Given the description of an element on the screen output the (x, y) to click on. 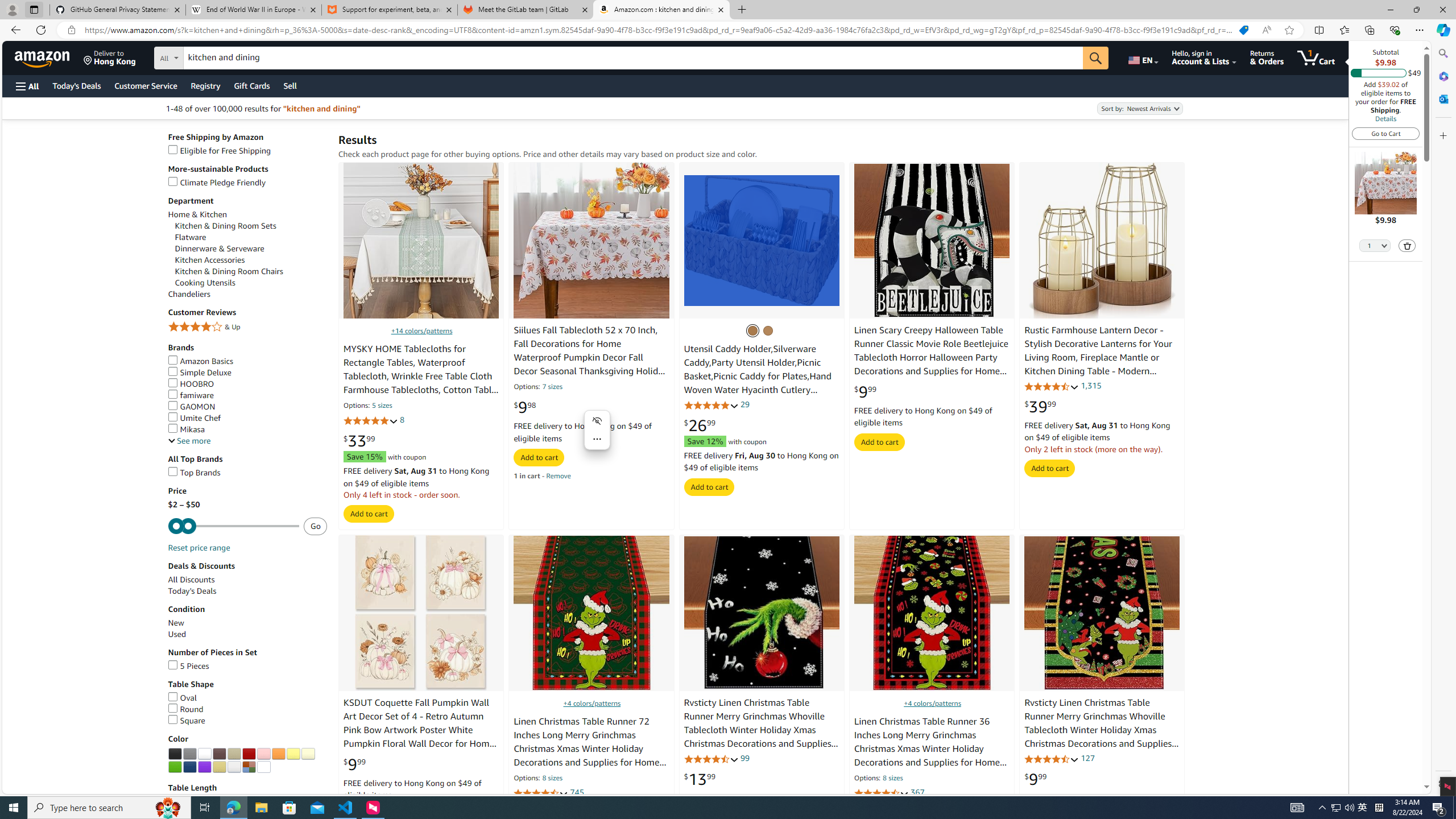
White (204, 753)
Hide menu (597, 420)
Customer Service (145, 85)
Chandeliers (189, 294)
Natural (767, 330)
AutomationID: p_n_feature_twenty_browse-bin/3254107011 (307, 753)
AutomationID: p_n_feature_twenty_browse-bin/3254108011 (174, 766)
Used (247, 634)
+14 colors/patterns (421, 329)
Round (185, 708)
More actions (597, 438)
